Given the description of an element on the screen output the (x, y) to click on. 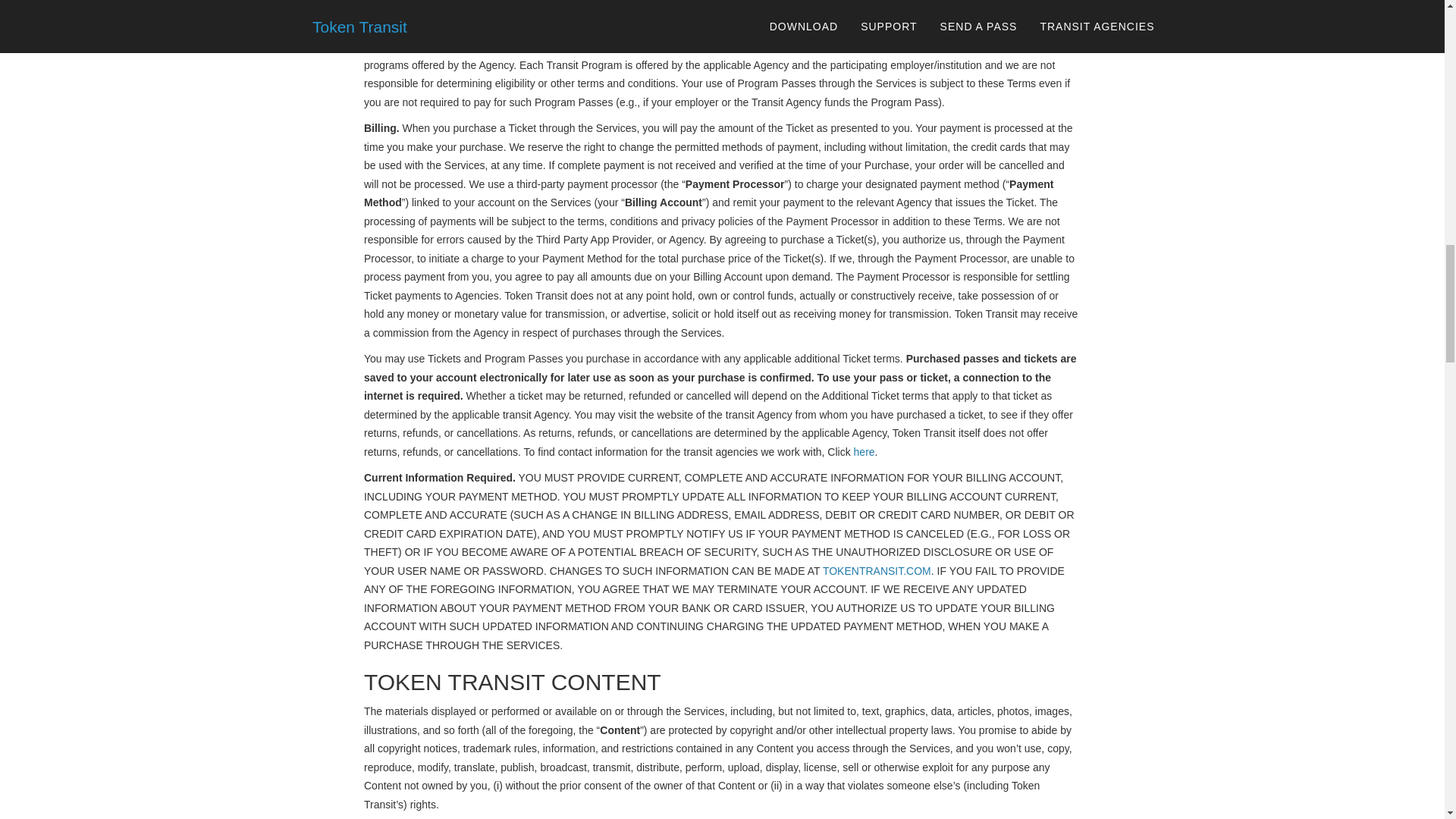
here (864, 451)
TOKENTRANSIT.COM (876, 571)
